Given the description of an element on the screen output the (x, y) to click on. 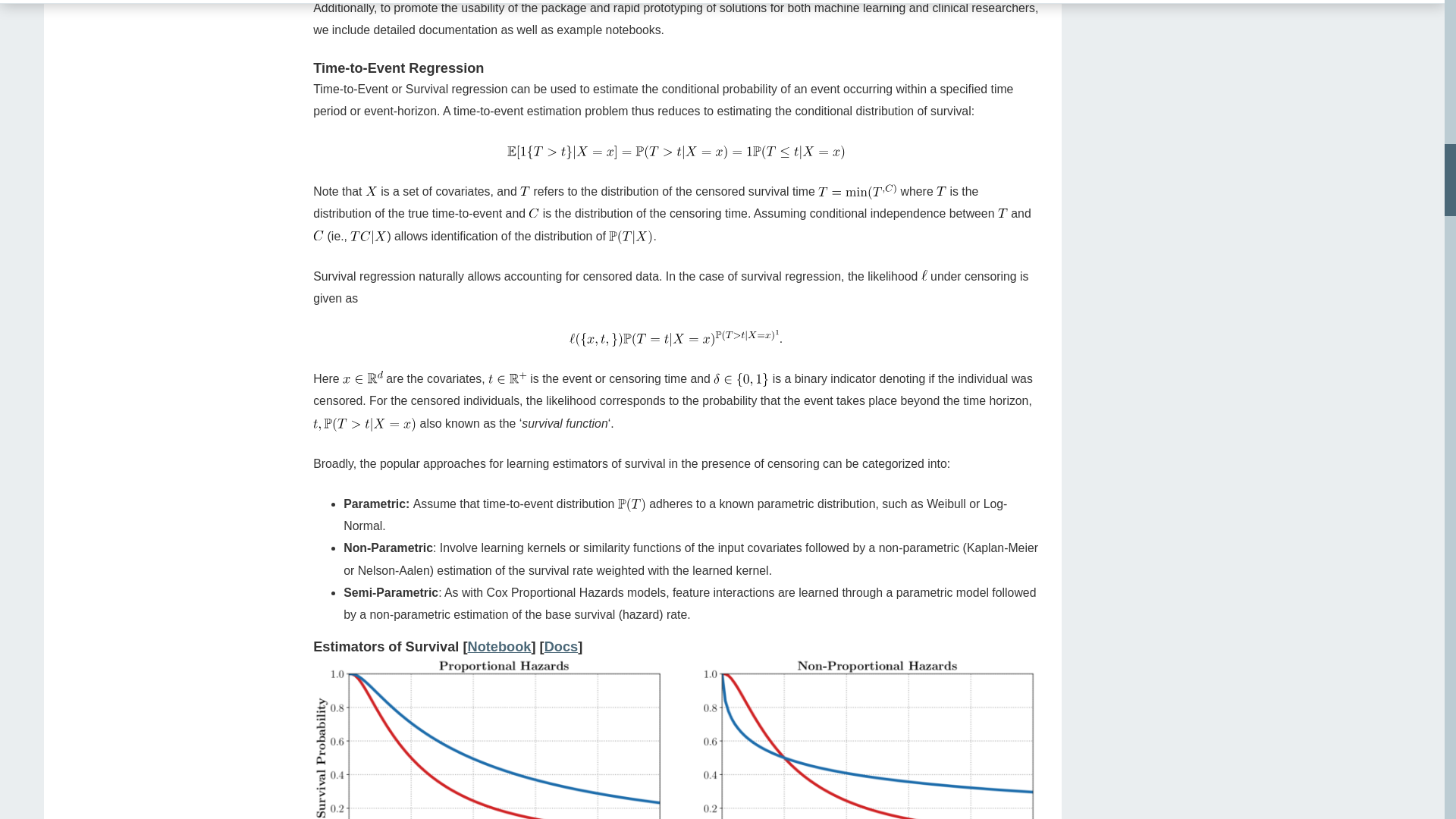
Rendered by QuickLaTeX.com (1002, 212)
Rendered by QuickLaTeX.com (631, 504)
Rendered by QuickLaTeX.com (364, 424)
Rendered by QuickLaTeX.com (740, 379)
Rendered by QuickLaTeX.com (362, 377)
Rendered by QuickLaTeX.com (507, 378)
Rendered by QuickLaTeX.com (318, 234)
Rendered by QuickLaTeX.com (673, 338)
Notebook (499, 646)
Docs (561, 646)
Rendered by QuickLaTeX.com (533, 212)
Rendered by QuickLaTeX.com (524, 190)
Rendered by QuickLaTeX.com (675, 151)
Rendered by QuickLaTeX.com (371, 190)
Rendered by QuickLaTeX.com (368, 237)
